Given the description of an element on the screen output the (x, y) to click on. 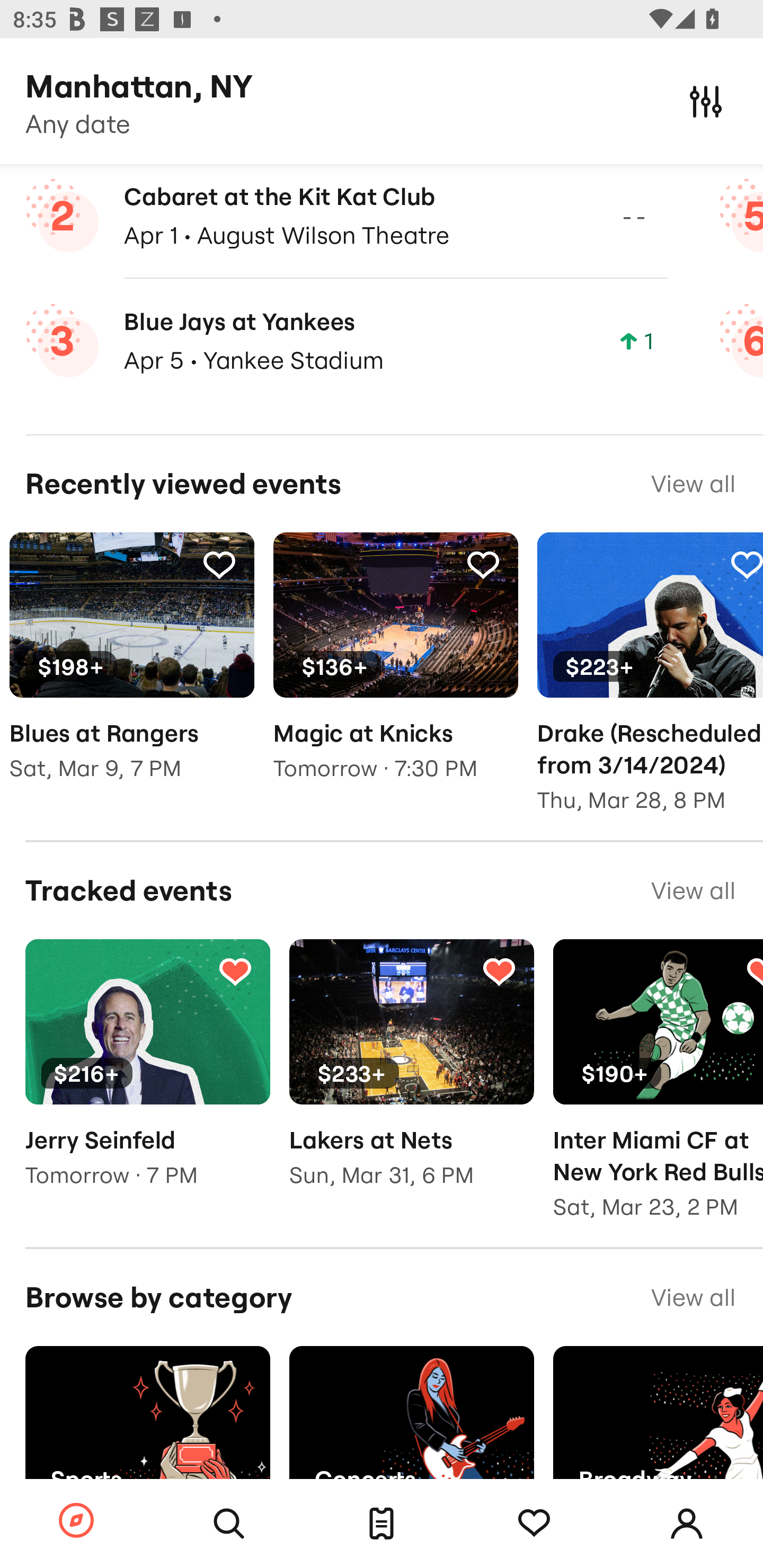
Filters (705, 100)
View all (693, 484)
Tracking $198+ Blues at Rangers Sat, Mar 9, 7 PM (131, 670)
Tracking $136+ Magic at Knicks Tomorrow · 7:30 PM (395, 670)
Tracking (218, 564)
Tracking (482, 564)
Tracking (745, 564)
View all (693, 890)
Tracking $216+ Jerry Seinfeld Tomorrow · 7 PM (147, 1076)
Tracking $233+ Lakers at Nets Sun, Mar 31, 6 PM (411, 1076)
Tracking (234, 970)
Tracking (498, 970)
View all (693, 1297)
Sports (147, 1428)
Concerts (411, 1428)
Broadway (658, 1428)
Browse (76, 1521)
Search (228, 1523)
Tickets (381, 1523)
Tracking (533, 1523)
Account (686, 1523)
